Given the description of an element on the screen output the (x, y) to click on. 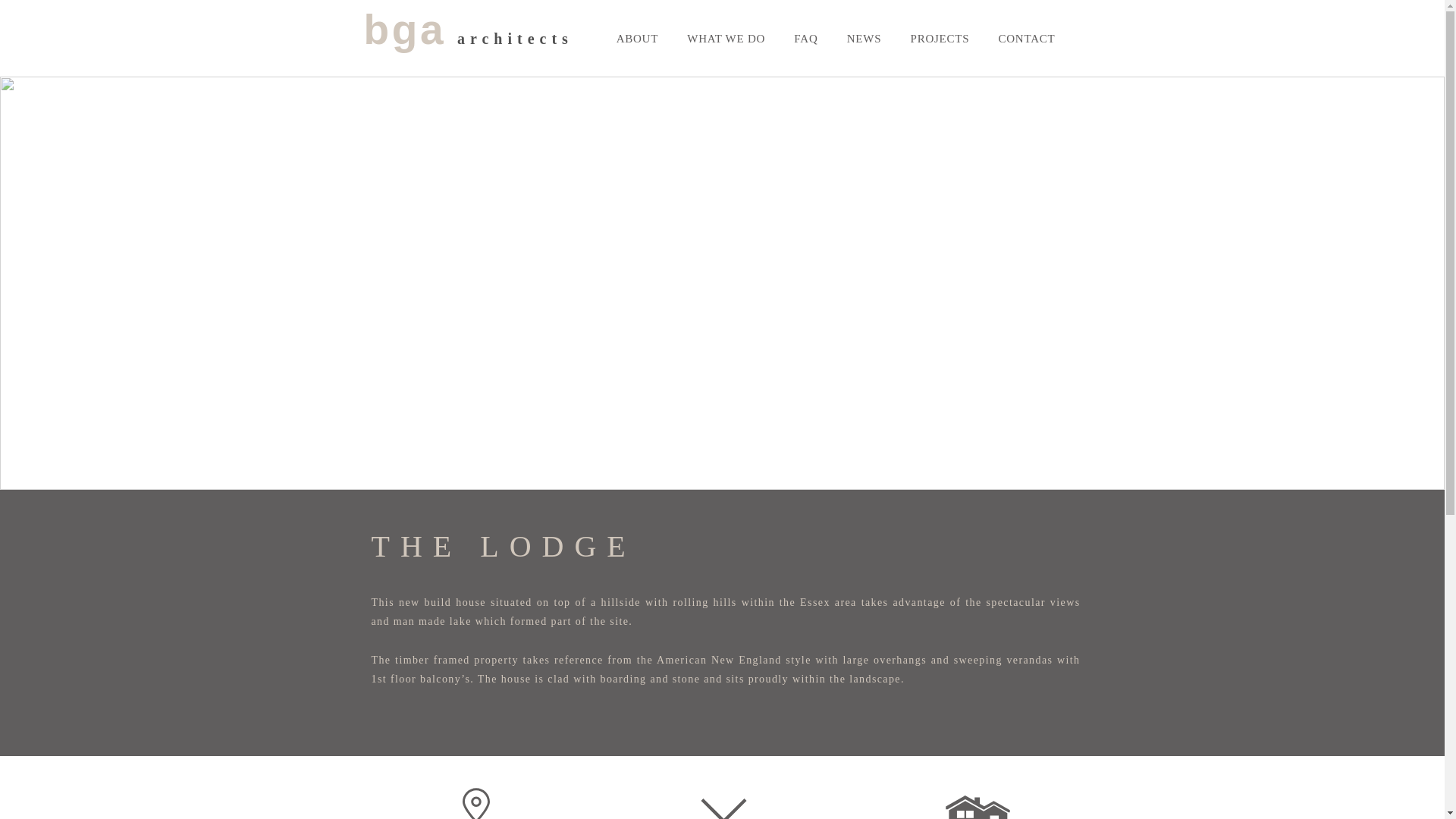
ABOUT (637, 39)
FAQ (805, 39)
PROJECTS (938, 39)
bga architects (468, 38)
NEWS (864, 39)
CONTACT (1026, 39)
